Given the description of an element on the screen output the (x, y) to click on. 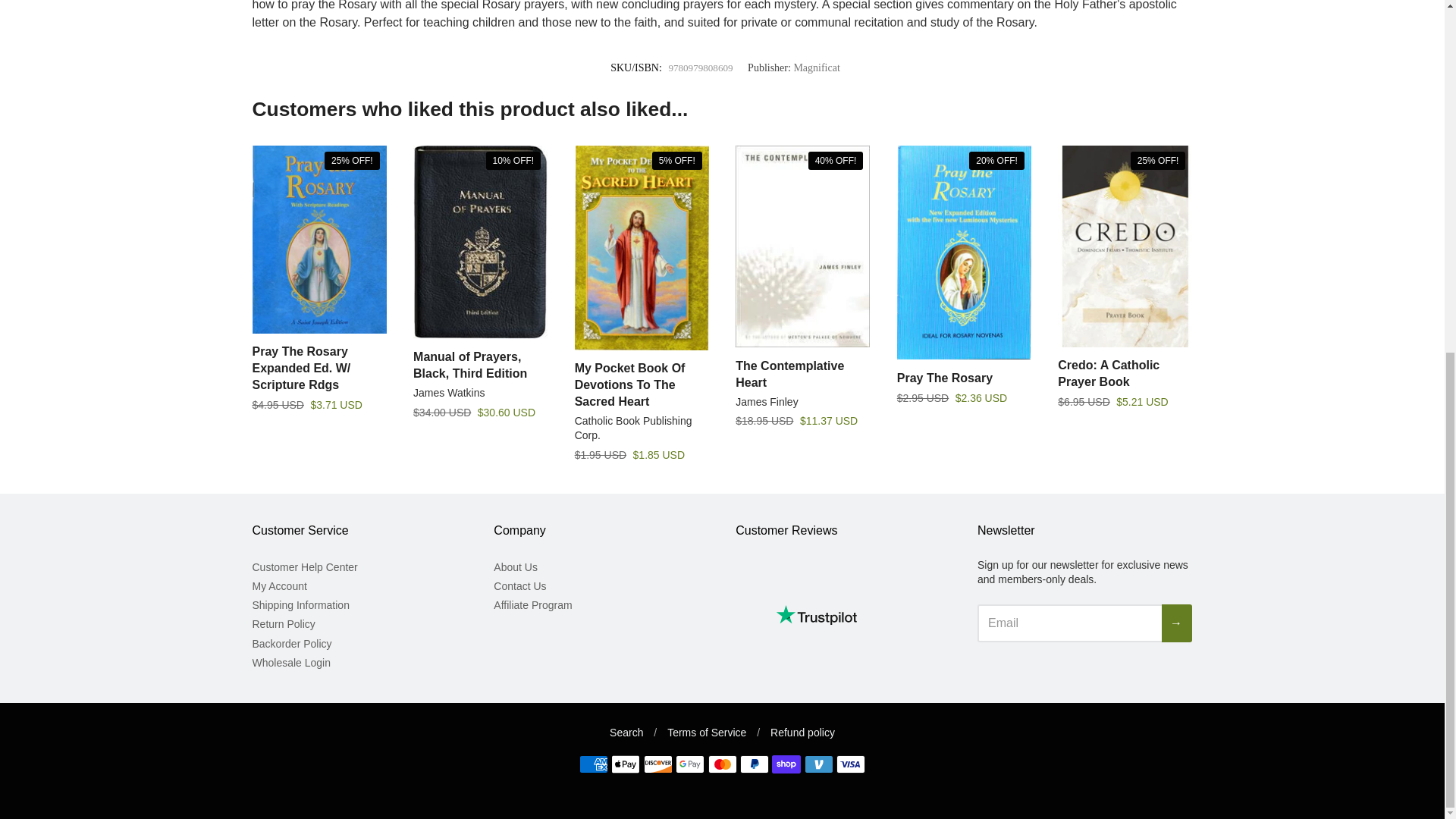
The Contemplative Heart (802, 246)
Mastercard (721, 764)
The Contemplative Heart (789, 374)
Credo: A Catholic Prayer Book (1108, 373)
Venmo (818, 764)
Pray The Rosary (963, 252)
Credo: A Catholic Prayer Book (1125, 246)
My Pocket Book Of Devotions To The Sacred Heart (630, 384)
Discover (657, 764)
Shop Pay (785, 764)
Customer reviews powered by Trustpilot (815, 614)
My Pocket Book Of Devotions To The Sacred Heart (642, 247)
Pray The Rosary (944, 377)
Manual of Prayers, Black, Third Edition (470, 365)
Manual of Prayers, Black, Third Edition (480, 242)
